Given the description of an element on the screen output the (x, y) to click on. 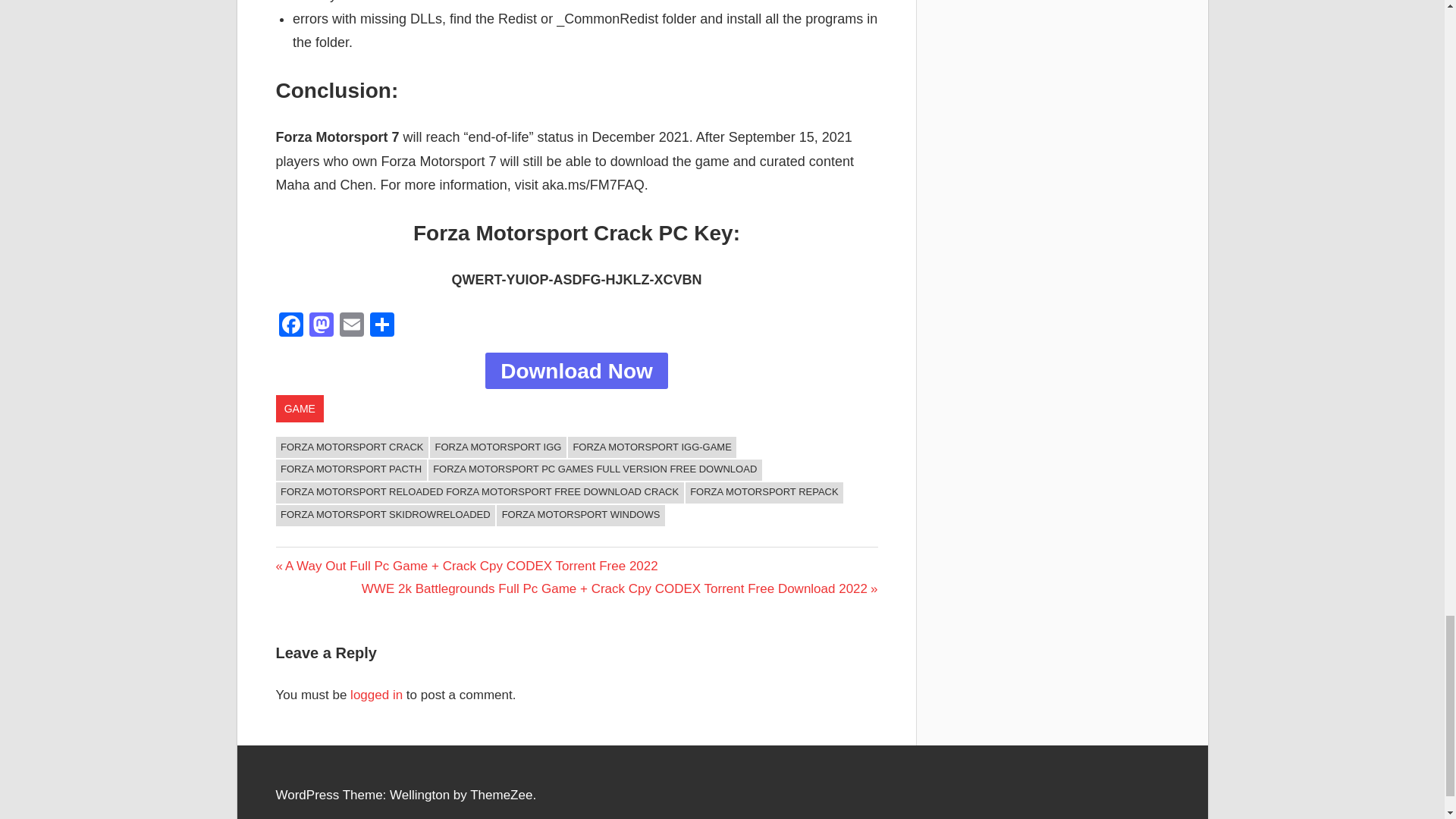
FORZA MOTORSPORT PACTH (351, 469)
GAME (300, 408)
Email (351, 326)
Mastodon (320, 326)
FORZA MOTORSPORT IGG-GAME (651, 446)
FORZA MOTORSPORT CRACK (352, 446)
FORZA MOTORSPORT REPACK (764, 492)
Facebook (290, 326)
FORZA MOTORSPORT PC GAMES FULL VERSION FREE DOWNLOAD (594, 469)
FORZA MOTORSPORT IGG (497, 446)
Facebook (290, 326)
Mastodon (320, 326)
logged in (376, 694)
Download Now (576, 370)
